Given the description of an element on the screen output the (x, y) to click on. 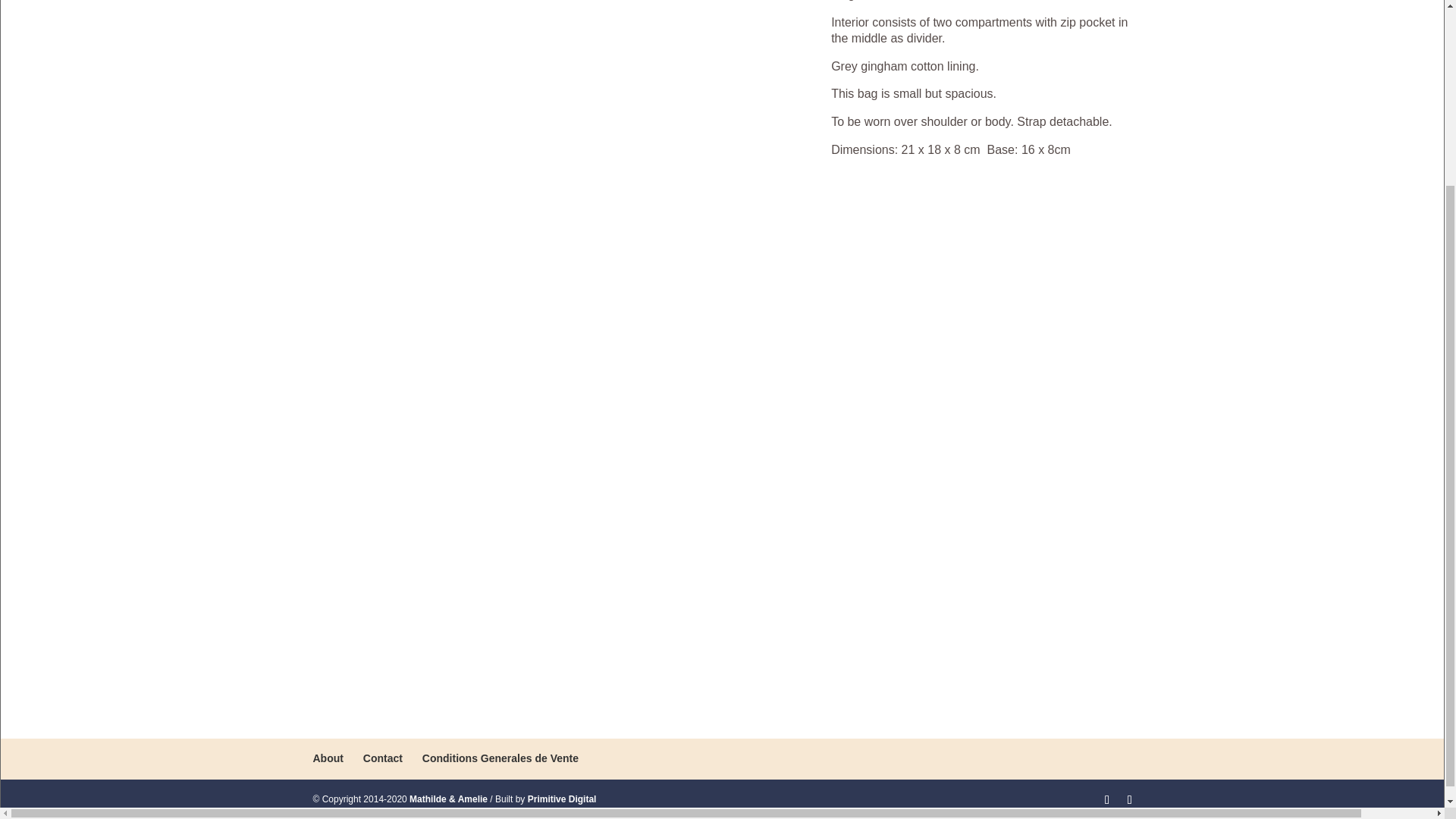
Contact (382, 758)
Conditions Generales de Vente (500, 758)
About (327, 758)
Primitive Digital (561, 798)
